Given the description of an element on the screen output the (x, y) to click on. 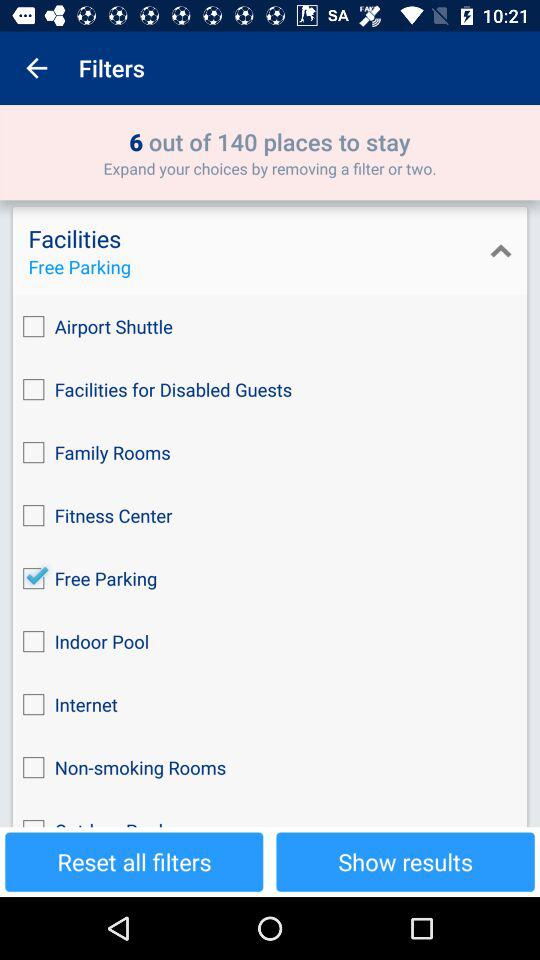
click the facilities for disabled icon (269, 389)
